Given the description of an element on the screen output the (x, y) to click on. 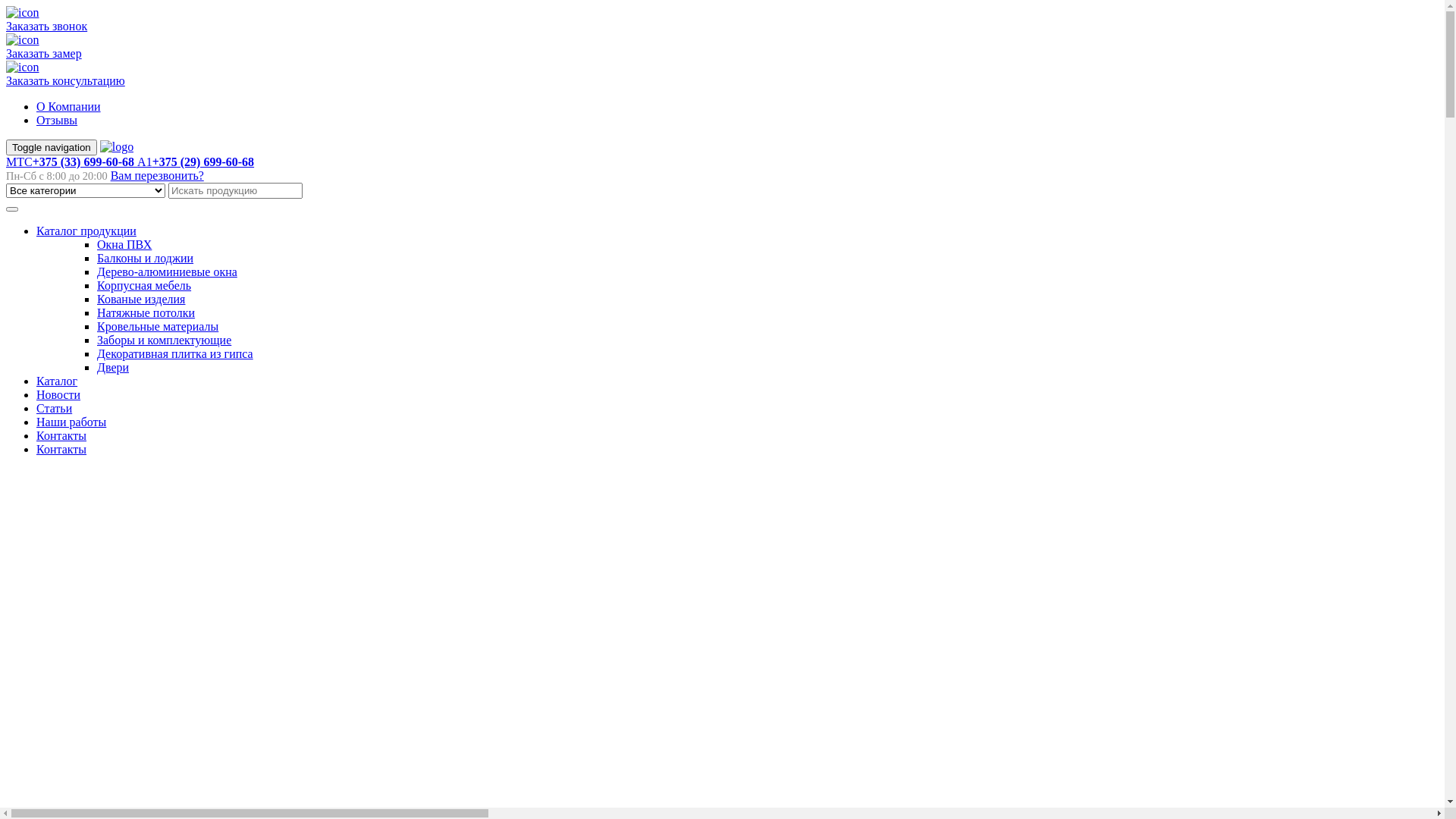
Toggle navigation Element type: text (51, 147)
A1+375 (29) 699-60-68 Element type: text (195, 161)
